Given the description of an element on the screen output the (x, y) to click on. 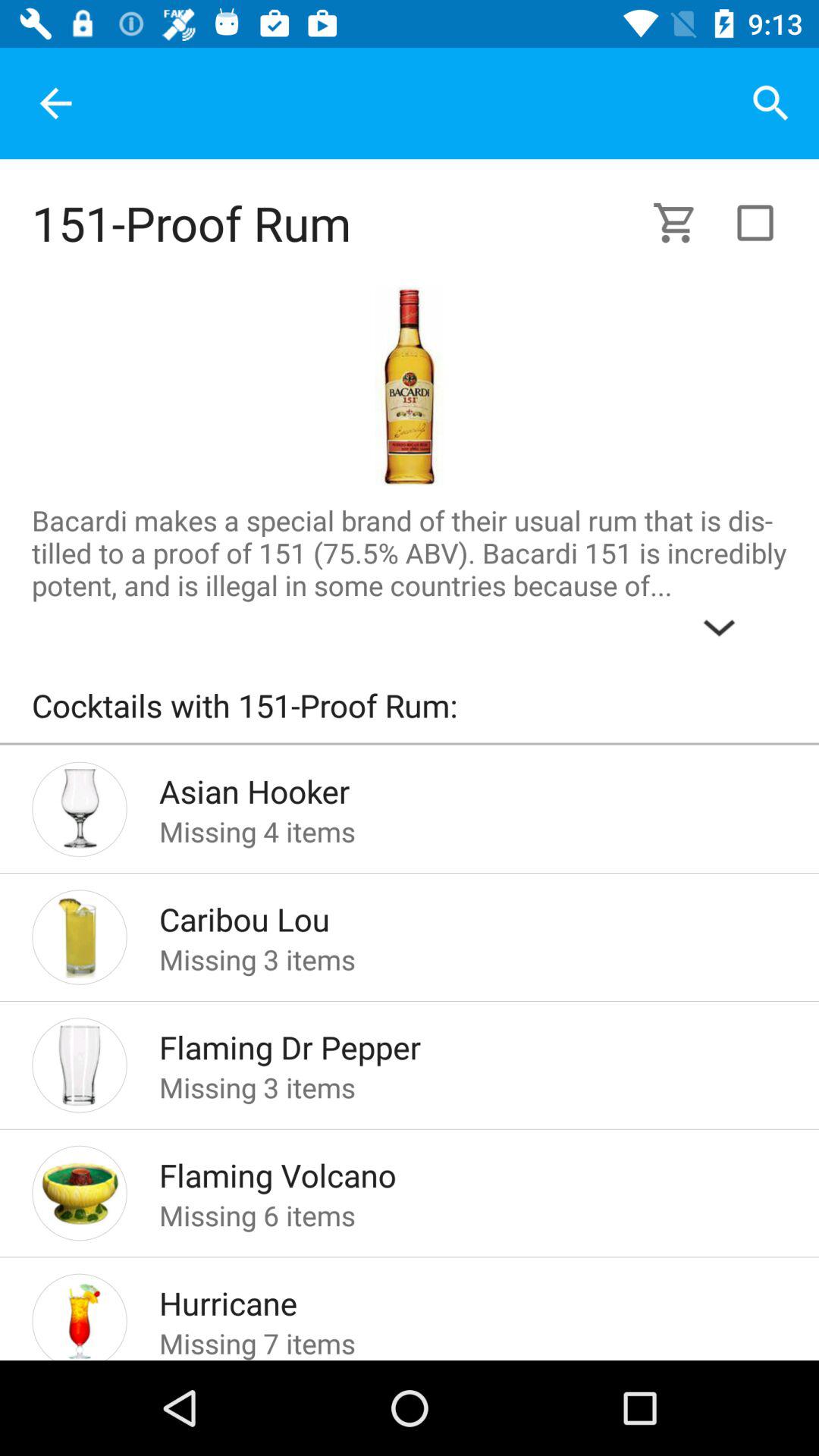
turn on the hurricane icon (449, 1298)
